Given the description of an element on the screen output the (x, y) to click on. 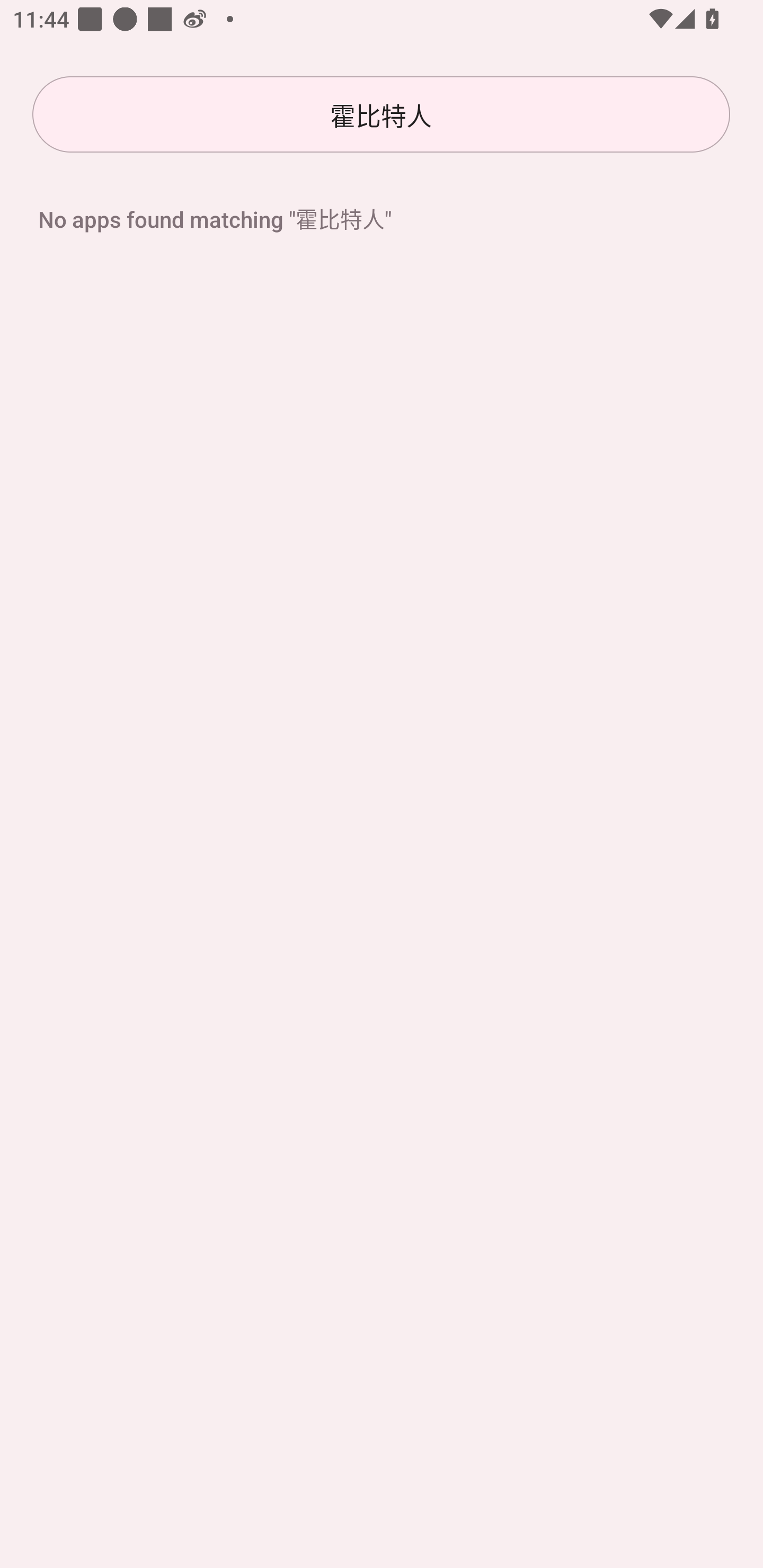
霍比特人 (381, 114)
